Given the description of an element on the screen output the (x, y) to click on. 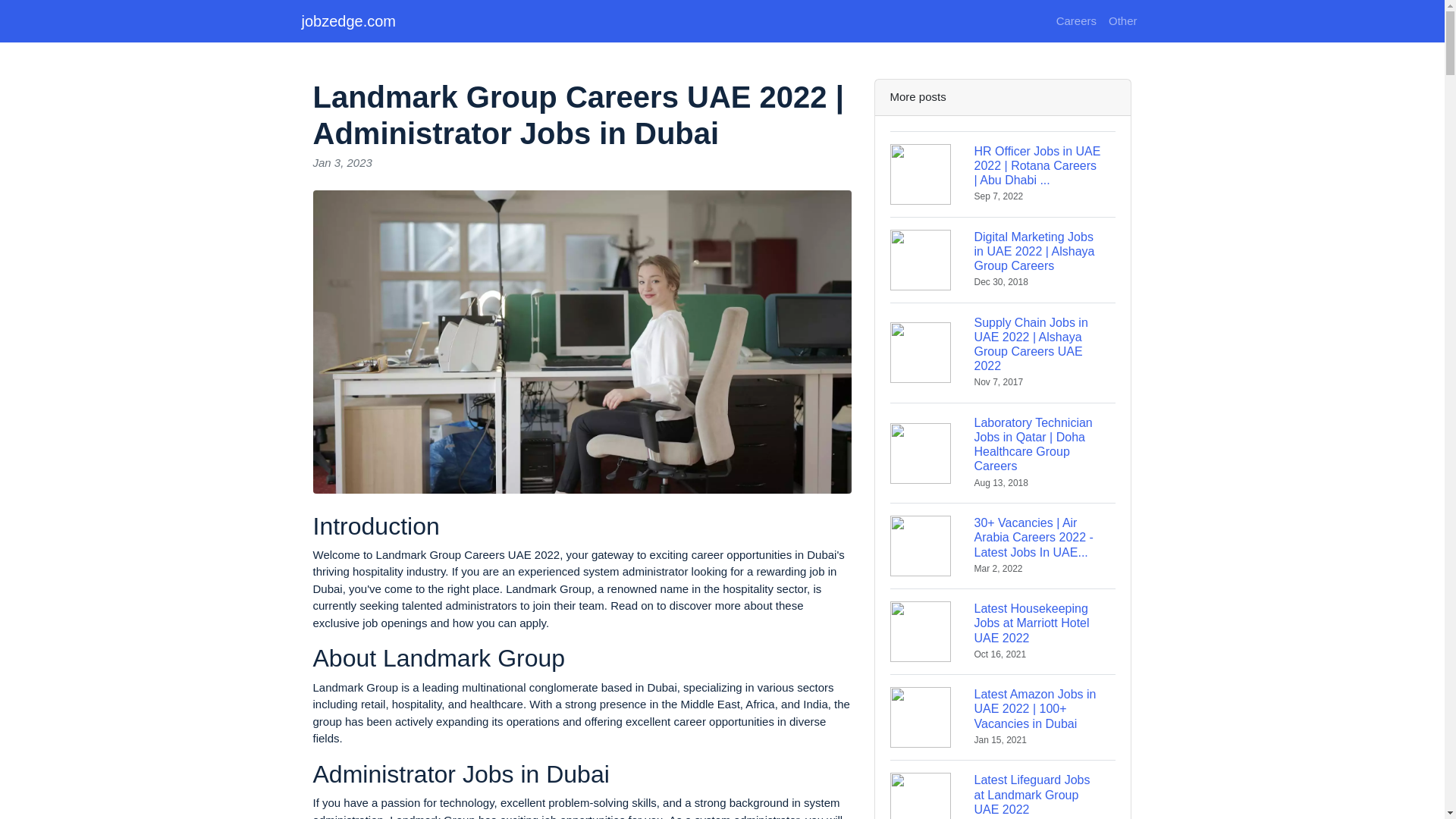
Careers (1075, 21)
Other (1122, 21)
jobzedge.com (348, 20)
